Given the description of an element on the screen output the (x, y) to click on. 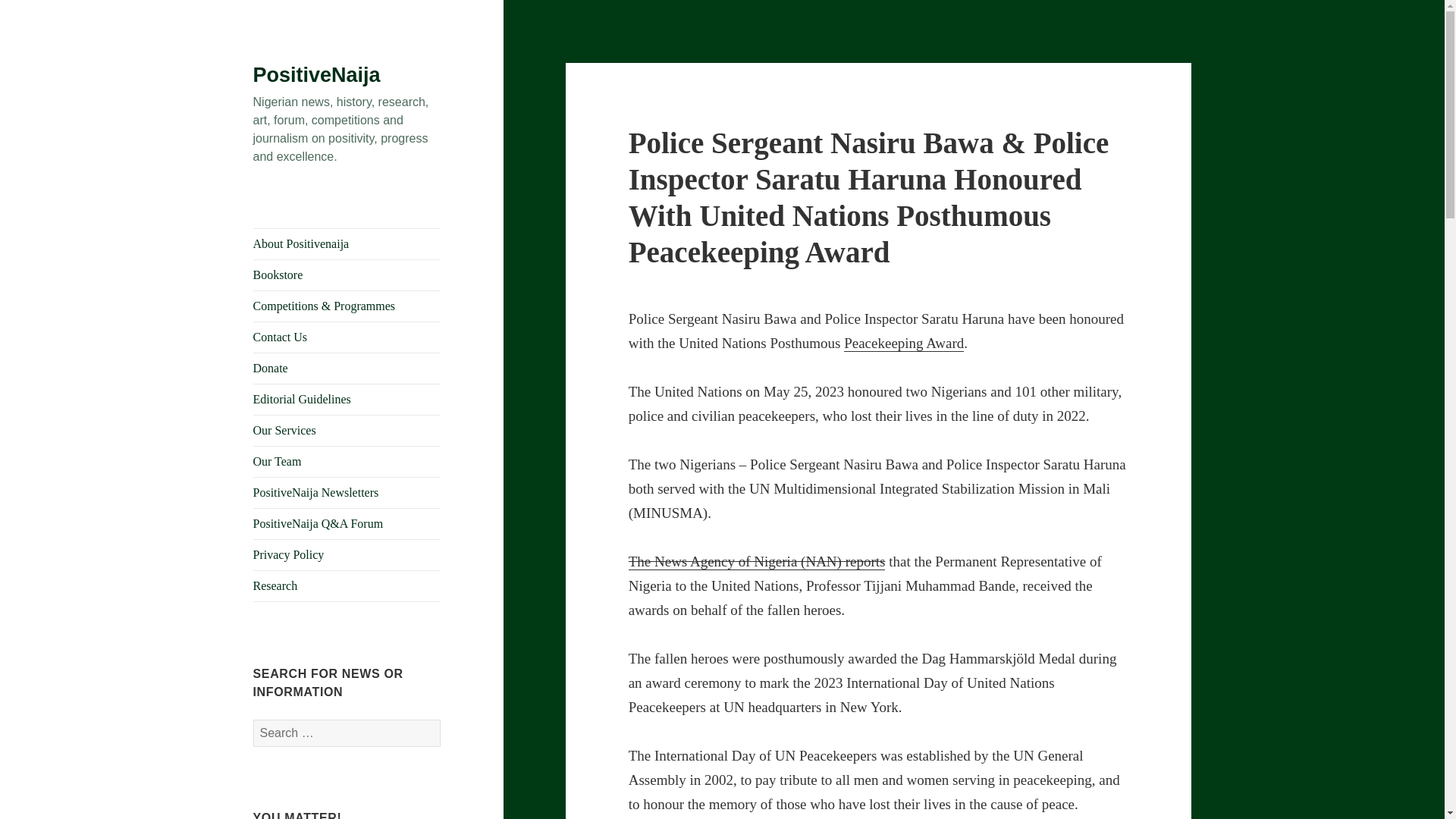
Our Services (347, 430)
PositiveNaija Newsletters (347, 492)
Privacy Policy (347, 554)
Editorial Guidelines (347, 399)
Peacekeeping Award (903, 343)
Our Team (347, 461)
About Positivenaija (347, 244)
Research (347, 585)
Contact Us (347, 337)
